Given the description of an element on the screen output the (x, y) to click on. 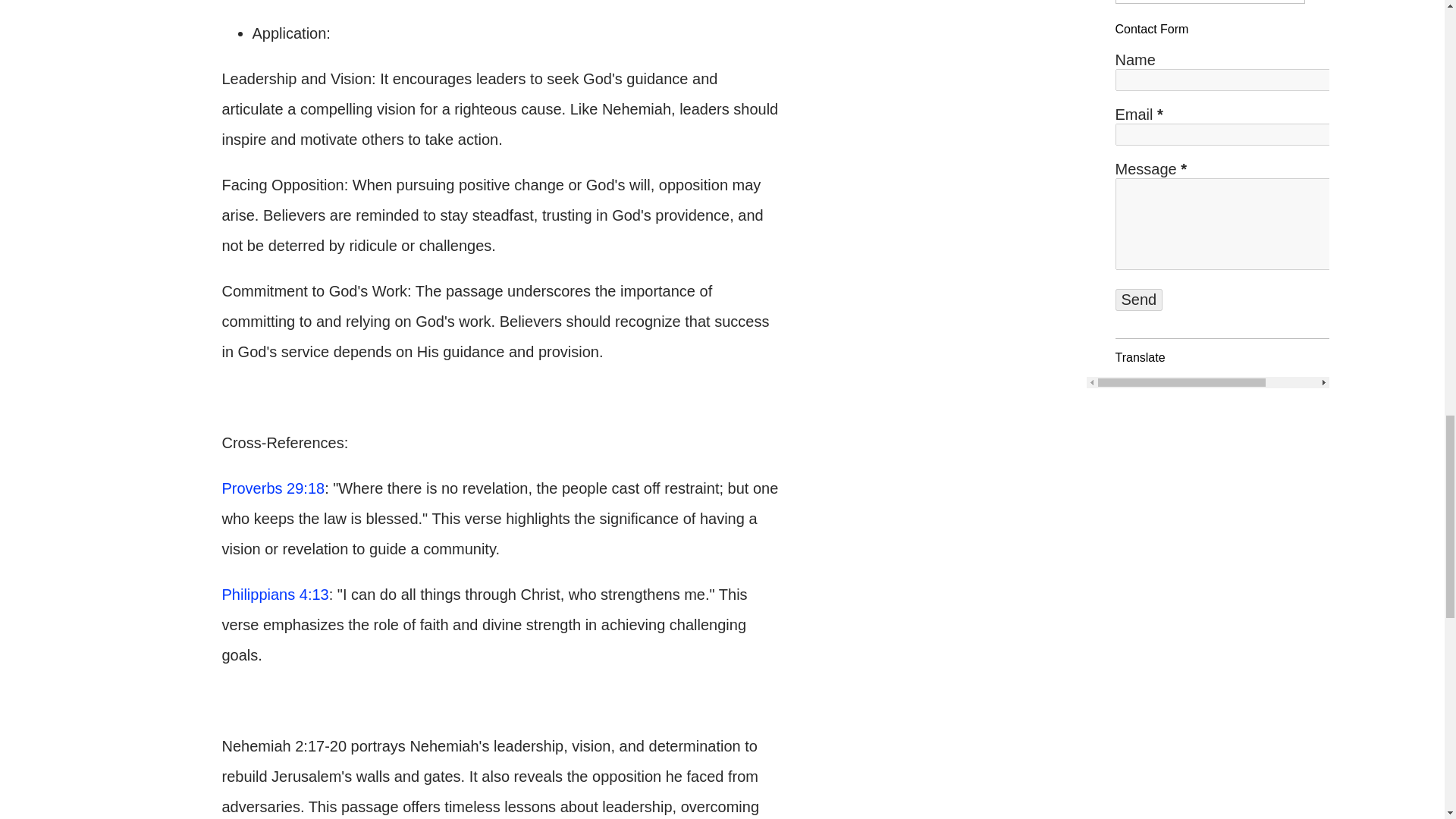
Send (1138, 300)
Philippians 4:13 (275, 594)
Proverbs 29:18 (272, 487)
